Given the description of an element on the screen output the (x, y) to click on. 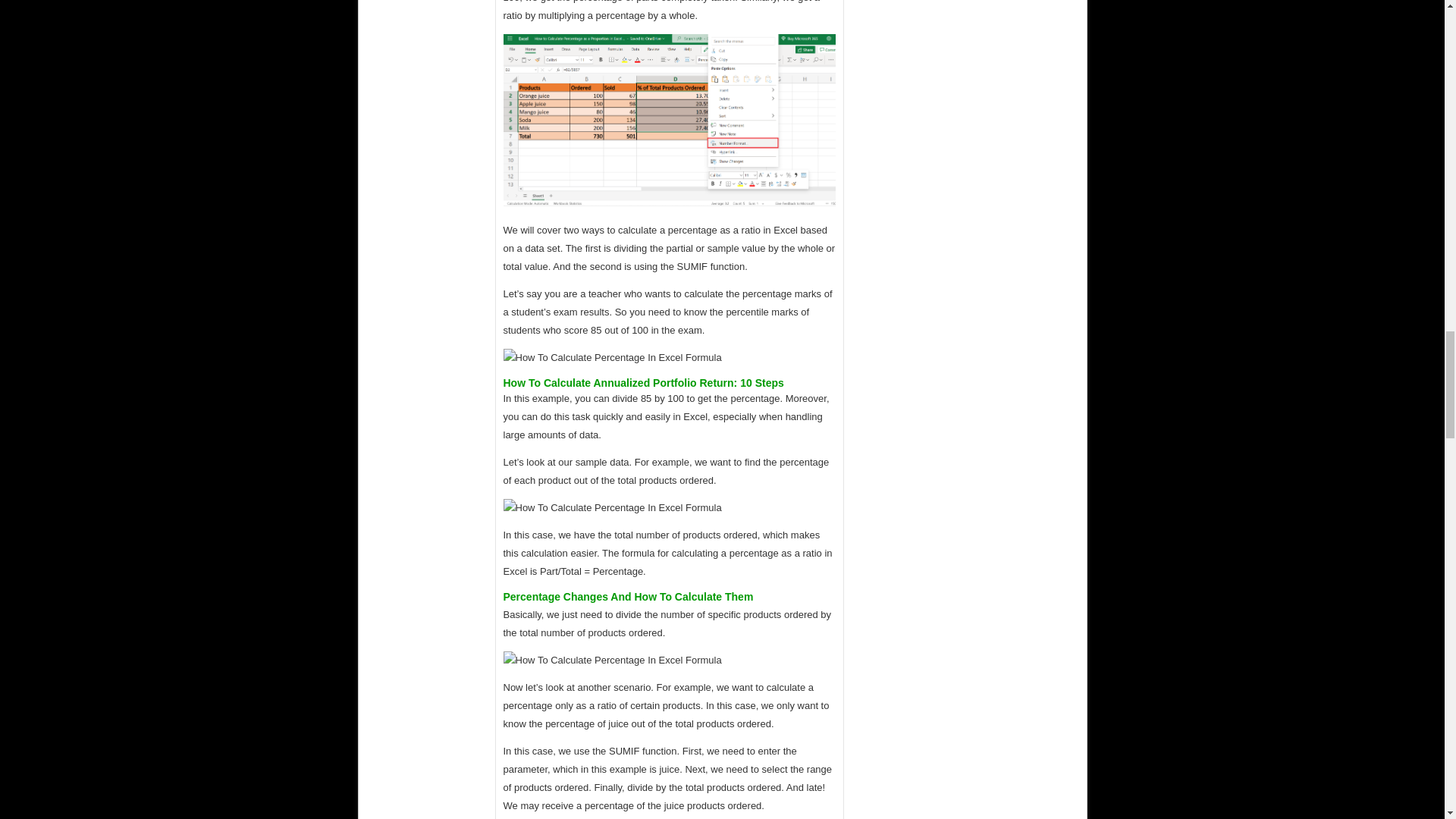
How To Calculate Percentage In Excel Formula (612, 357)
How To Calculate Percentage In Excel Formula (612, 507)
How To Calculate Percentage In Excel Formula (669, 120)
How To Calculate Percentage In Excel Formula (612, 660)
